Given the description of an element on the screen output the (x, y) to click on. 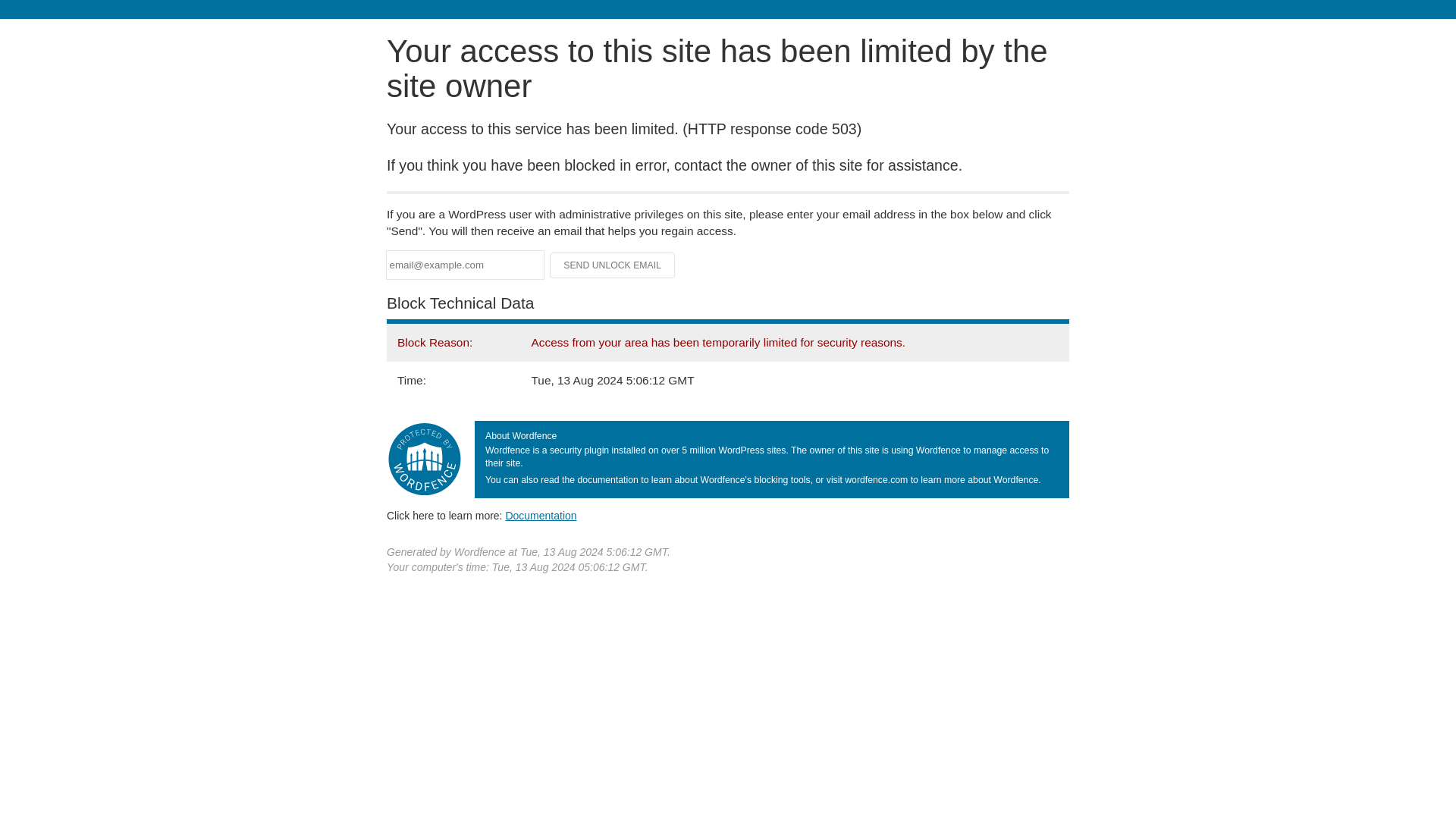
Send Unlock Email (612, 265)
Send Unlock Email (612, 265)
Documentation (540, 515)
